Given the description of an element on the screen output the (x, y) to click on. 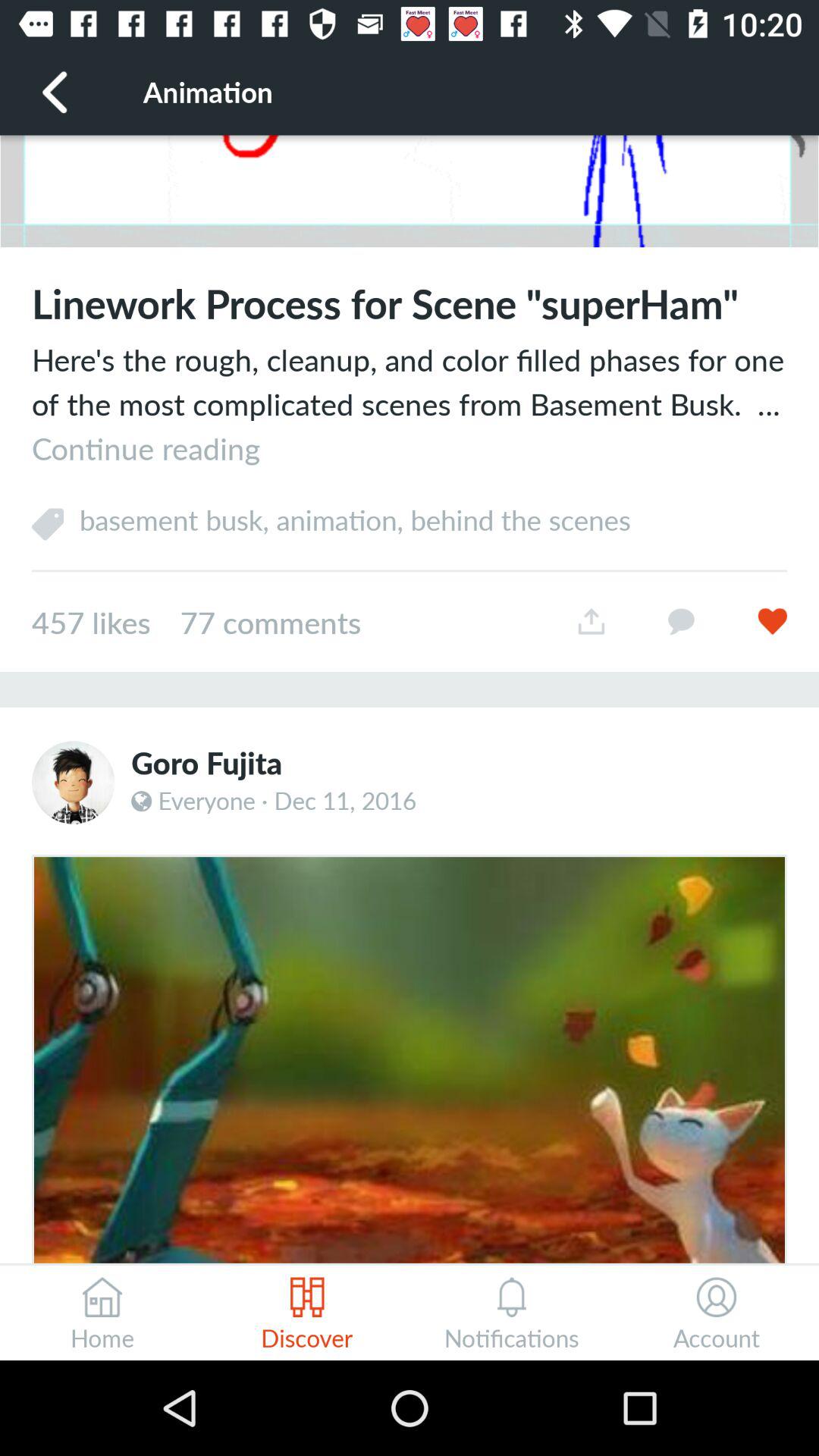
turn on the icon below linework process for icon (409, 403)
